Given the description of an element on the screen output the (x, y) to click on. 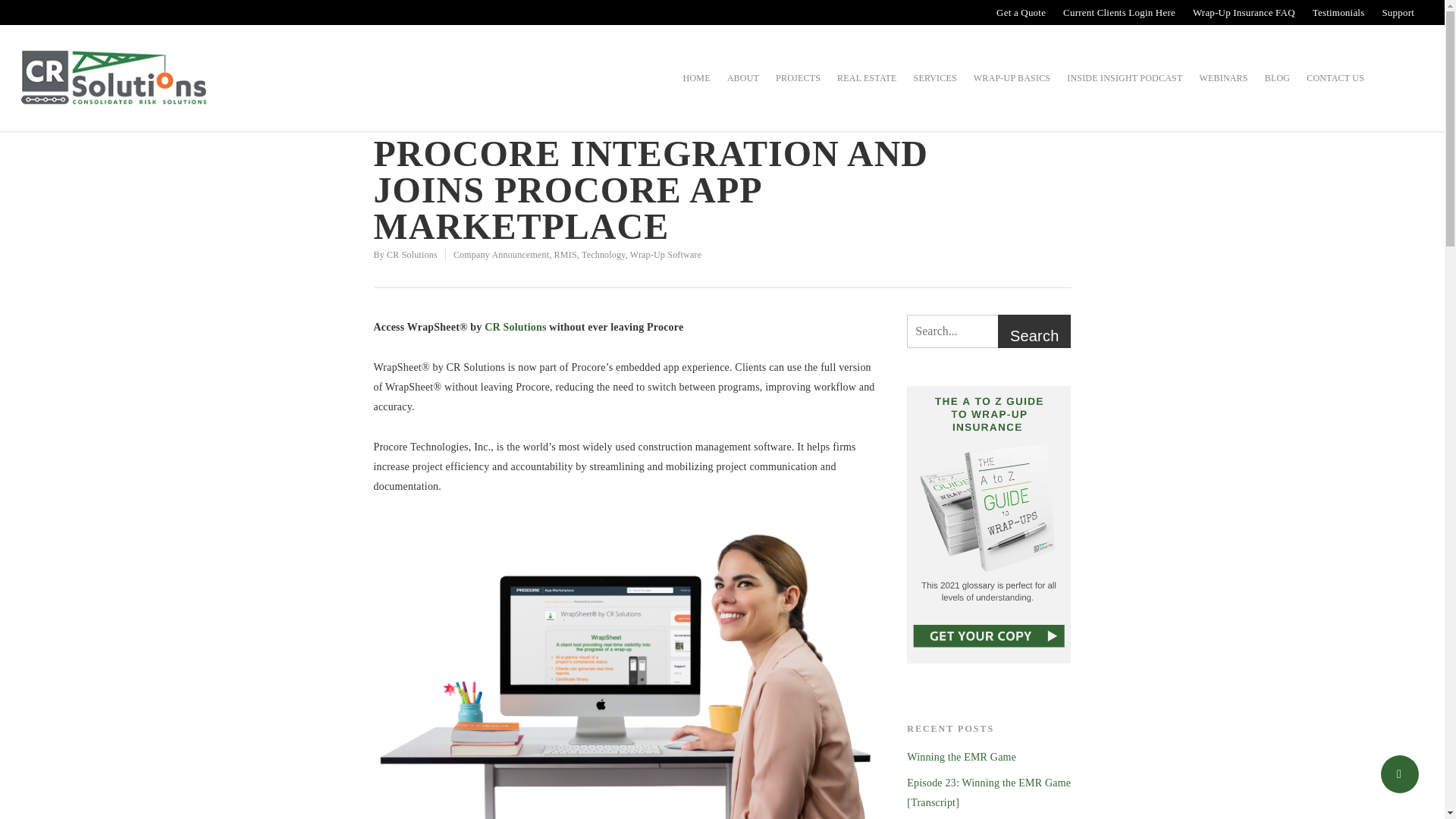
WRAP-UP BASICS (1012, 88)
RMIS (565, 254)
Testimonials (1338, 12)
Search (1034, 335)
Support (1397, 12)
Search (1034, 335)
Current Clients Login Here (1118, 12)
Search for: (988, 331)
CR Solutions (515, 326)
CR Solutions (412, 254)
